Given the description of an element on the screen output the (x, y) to click on. 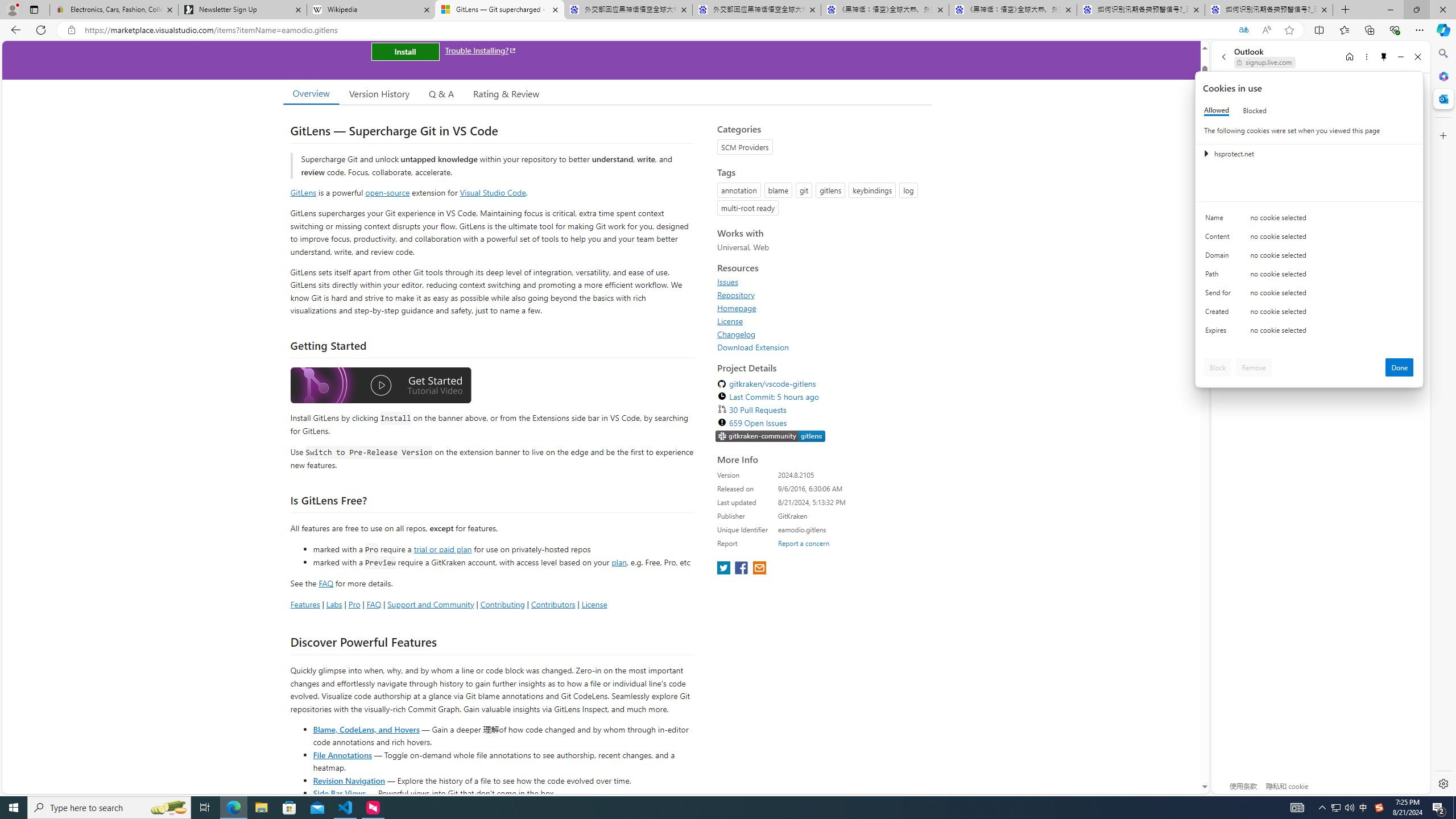
Contributing (502, 603)
Revision Navigation (348, 780)
Report a concern (803, 542)
Side Bar Views (339, 792)
share extension on email (759, 568)
Path (1219, 276)
Blame, CodeLens, and Hovers (366, 728)
Class: c0153 c0157 c0154 (1309, 220)
